Given the description of an element on the screen output the (x, y) to click on. 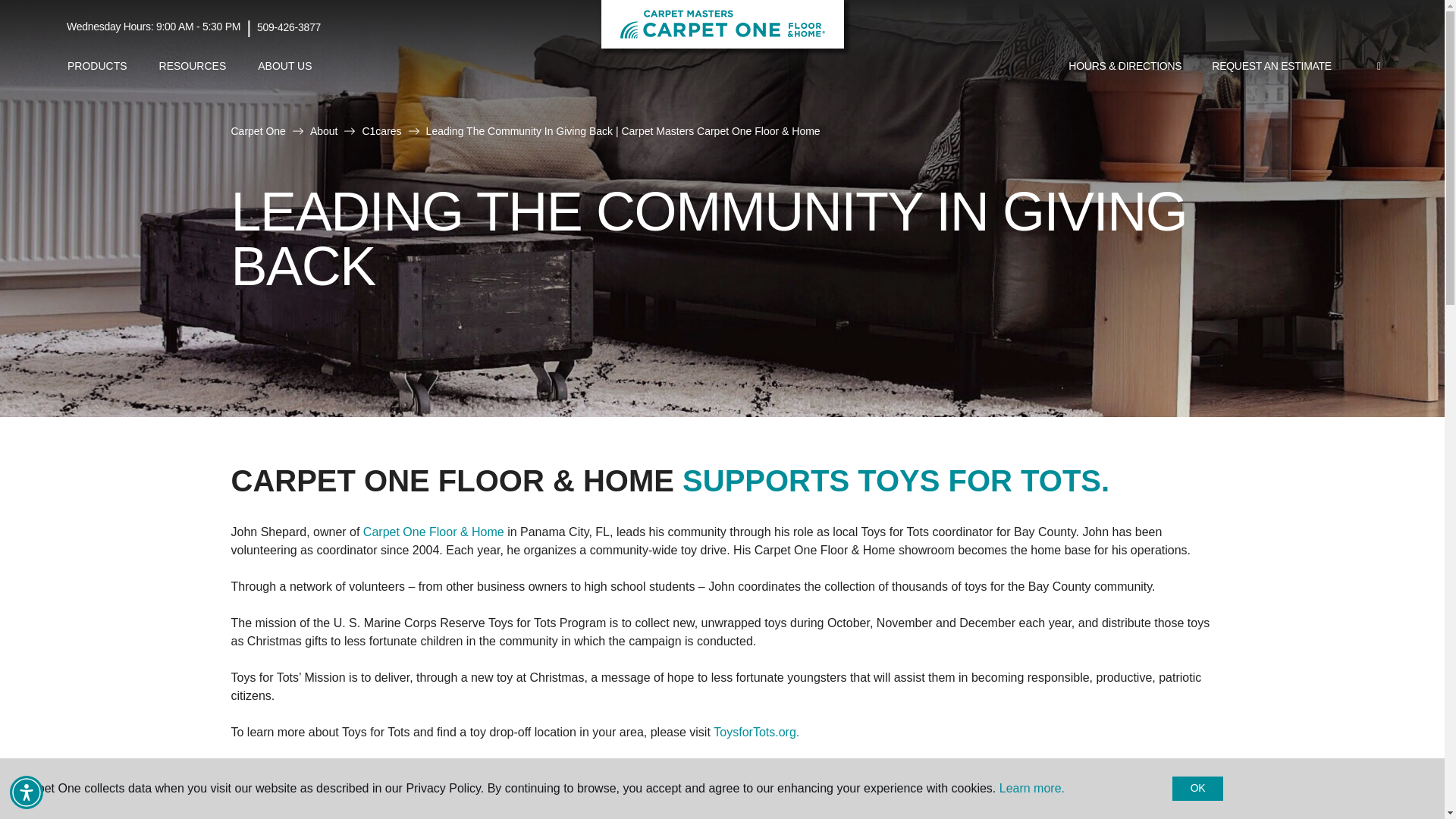
PRODUCTS (97, 66)
ABOUT US (284, 66)
509-426-3877 (288, 27)
RESOURCES (193, 66)
REQUEST AN ESTIMATE (1271, 66)
Accessibility Menu (26, 792)
